Given the description of an element on the screen output the (x, y) to click on. 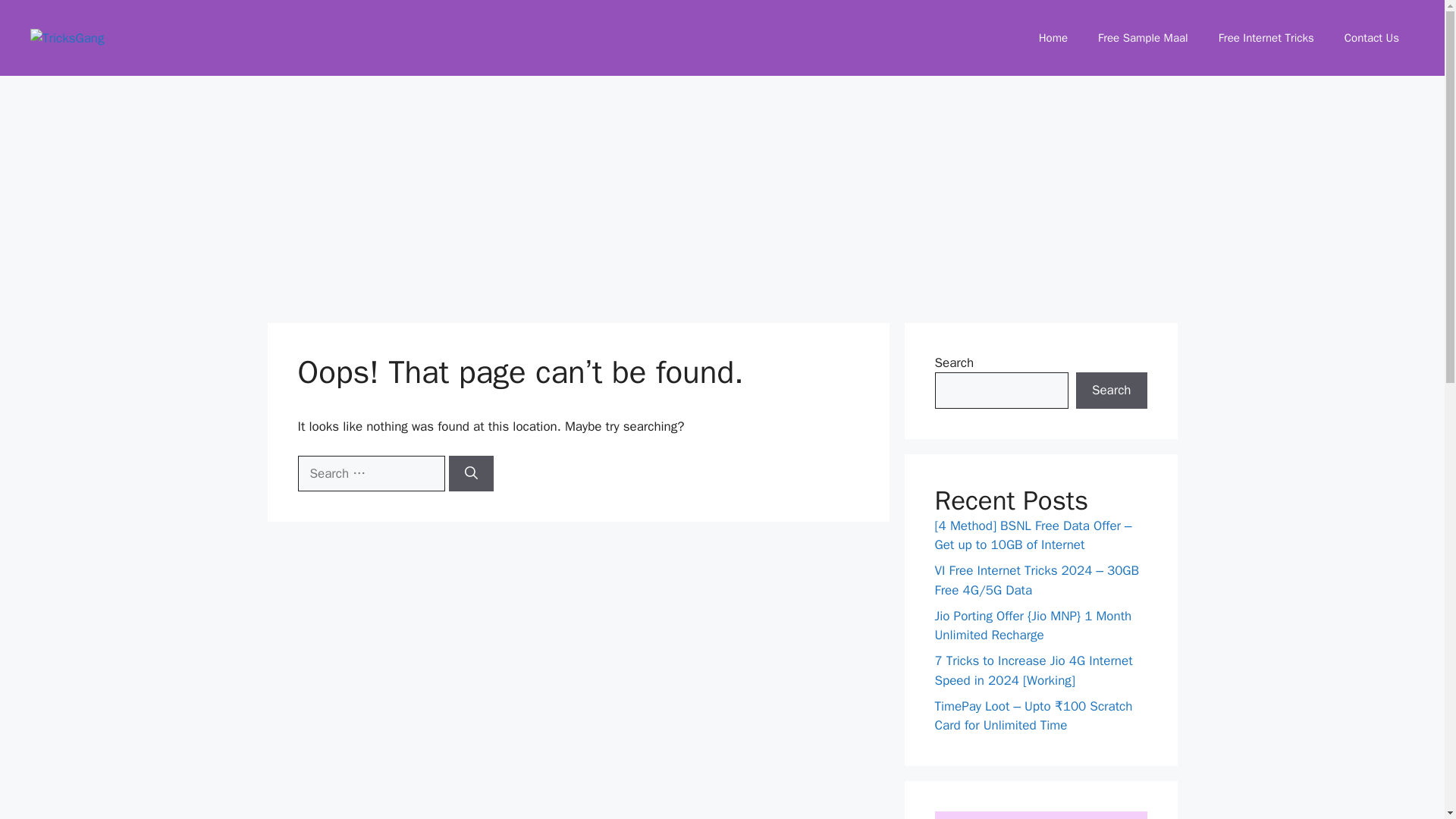
Search (1111, 390)
Free Sample Maal (1143, 37)
Free Internet Tricks (1266, 37)
Home (1053, 37)
Contact Us (1371, 37)
Search for: (370, 473)
